Given the description of an element on the screen output the (x, y) to click on. 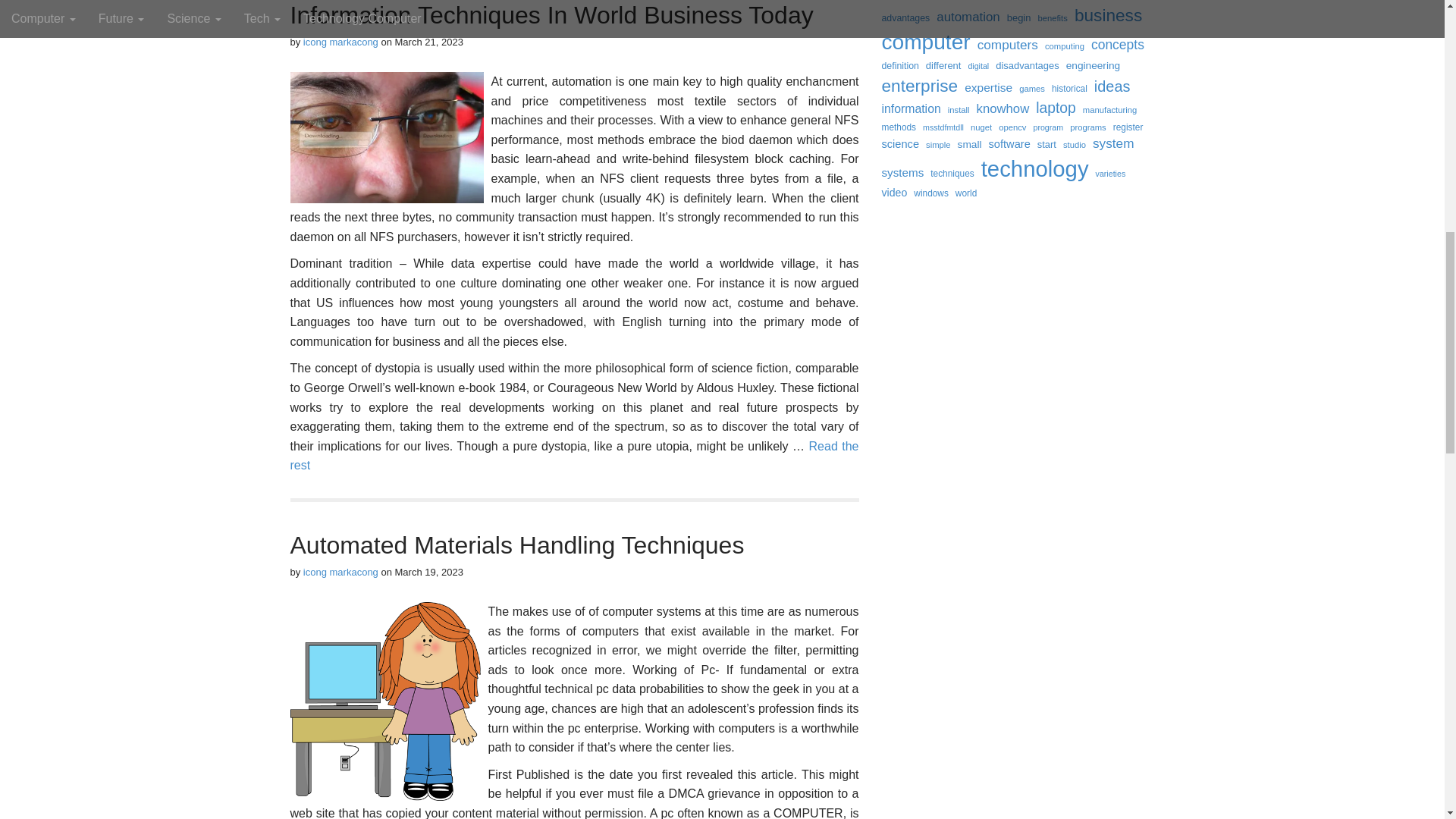
March 19, 2023 (428, 572)
Information Techniques In World Business Today (550, 14)
Read the rest (574, 455)
Automated Materials Handling Techniques (516, 544)
March 21, 2023 (428, 41)
Posts by icong markacong (340, 41)
Posts by icong markacong (340, 572)
icong markacong (340, 572)
icong markacong (340, 41)
